Given the description of an element on the screen output the (x, y) to click on. 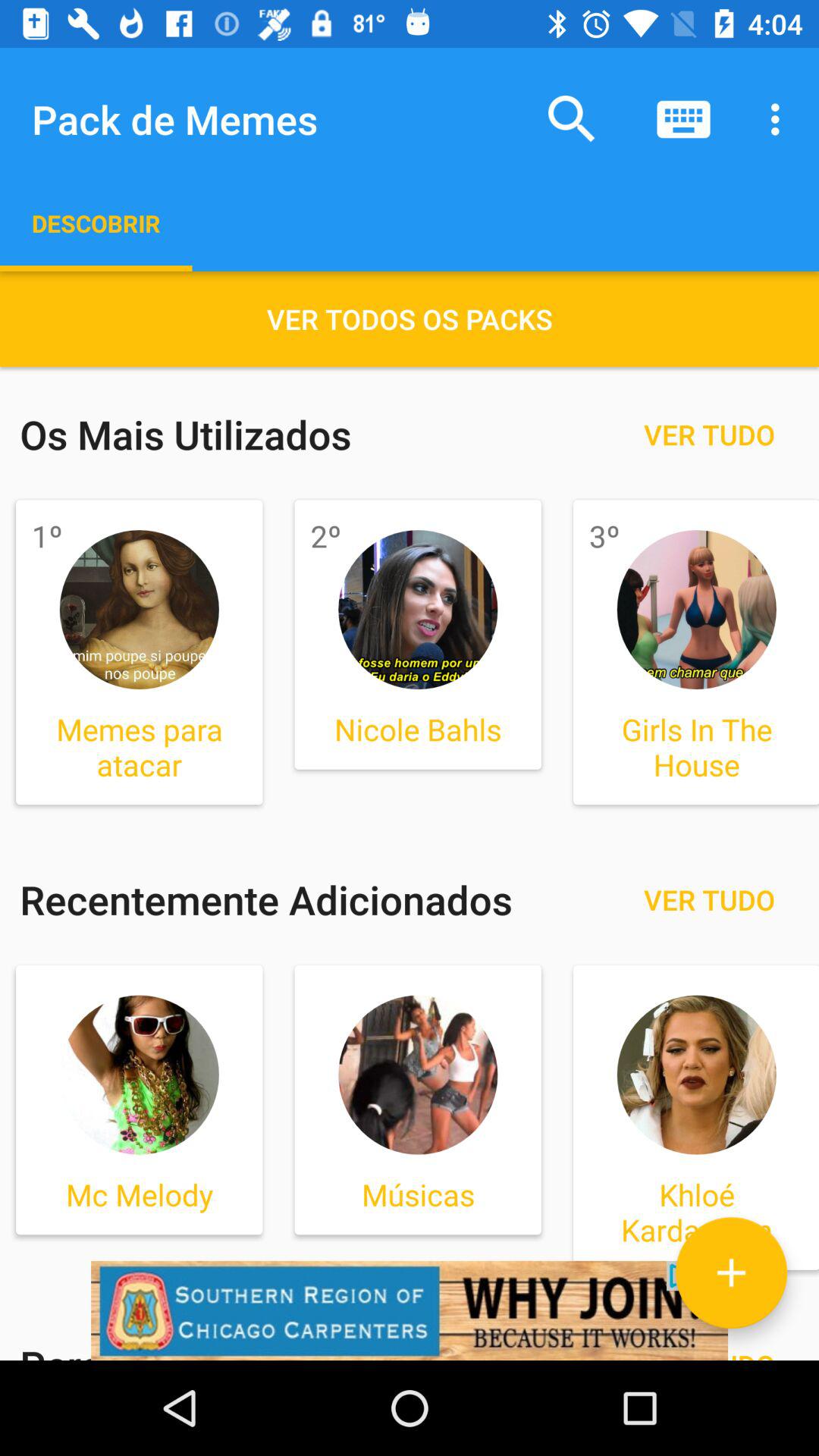
add pack (731, 1272)
